Given the description of an element on the screen output the (x, y) to click on. 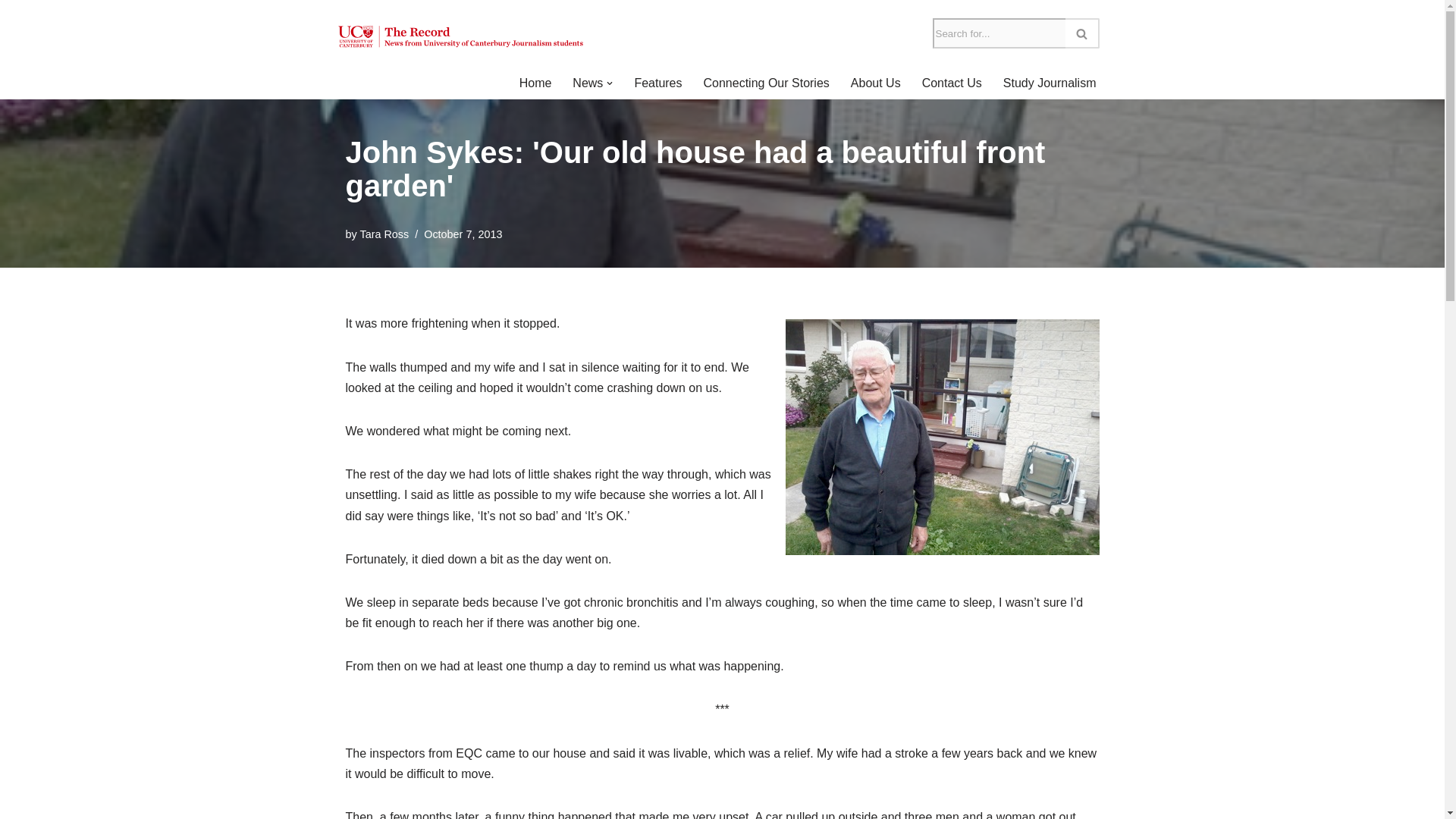
Contact Us (951, 82)
Home (535, 82)
Skip to content (11, 31)
Features (657, 82)
About Us (875, 82)
Posts by Tara Ross (384, 234)
Connecting Our Stories (766, 82)
Tara Ross (384, 234)
Study Journalism (1049, 82)
News (587, 82)
